Given the description of an element on the screen output the (x, y) to click on. 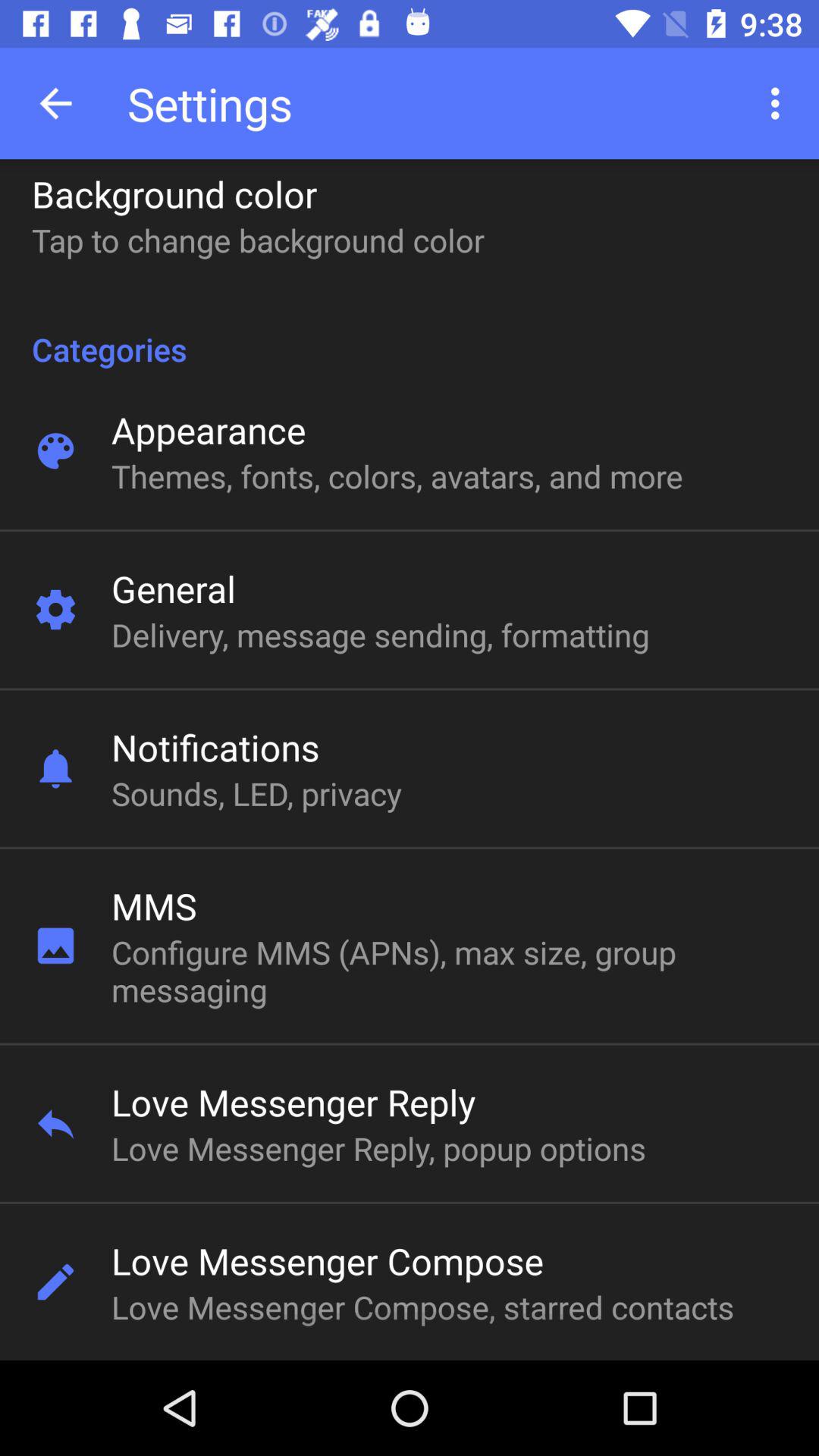
press icon above the general (397, 475)
